Given the description of an element on the screen output the (x, y) to click on. 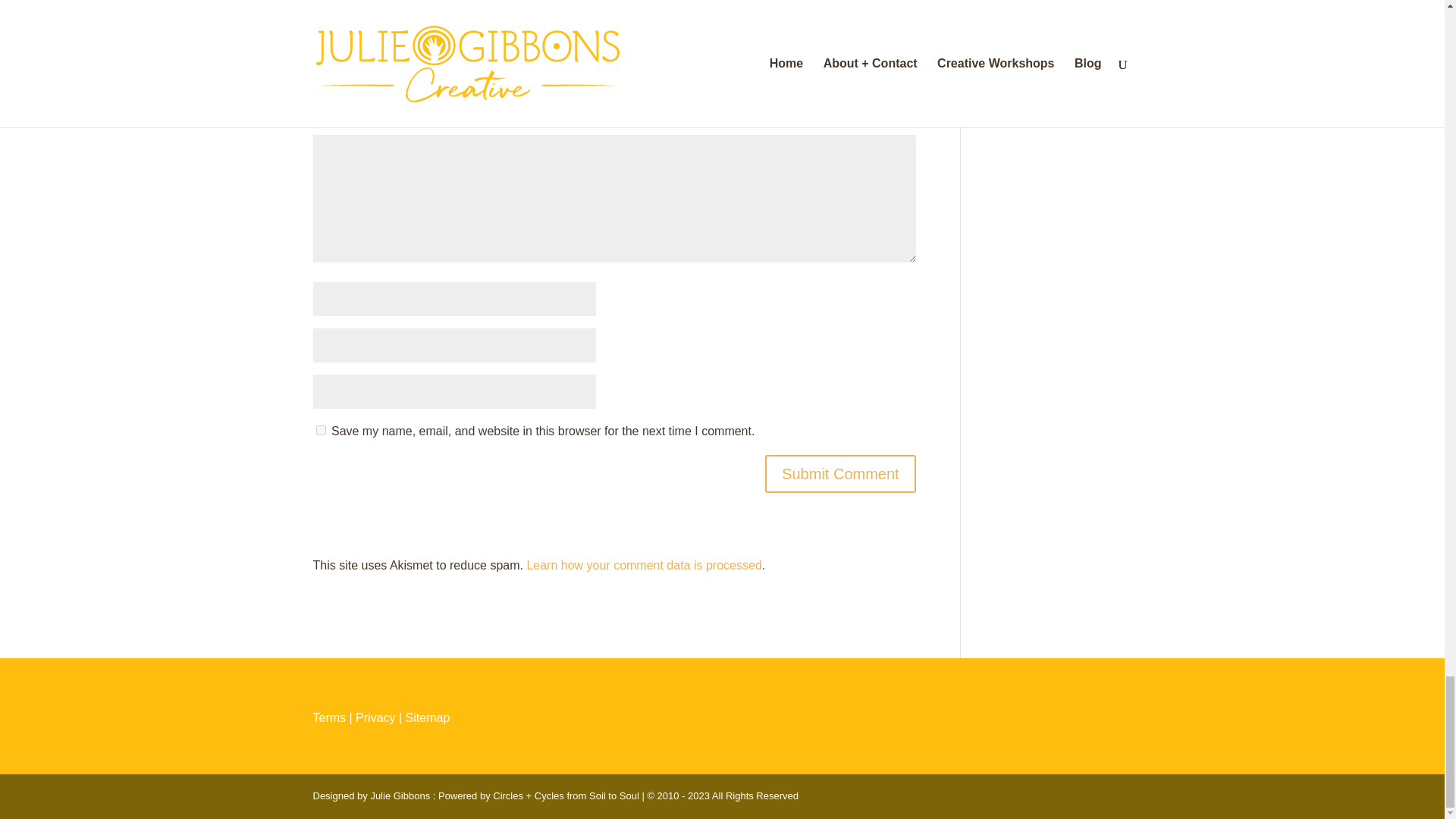
Submit Comment (840, 474)
yes (319, 429)
Submit Comment (840, 474)
